Given the description of an element on the screen output the (x, y) to click on. 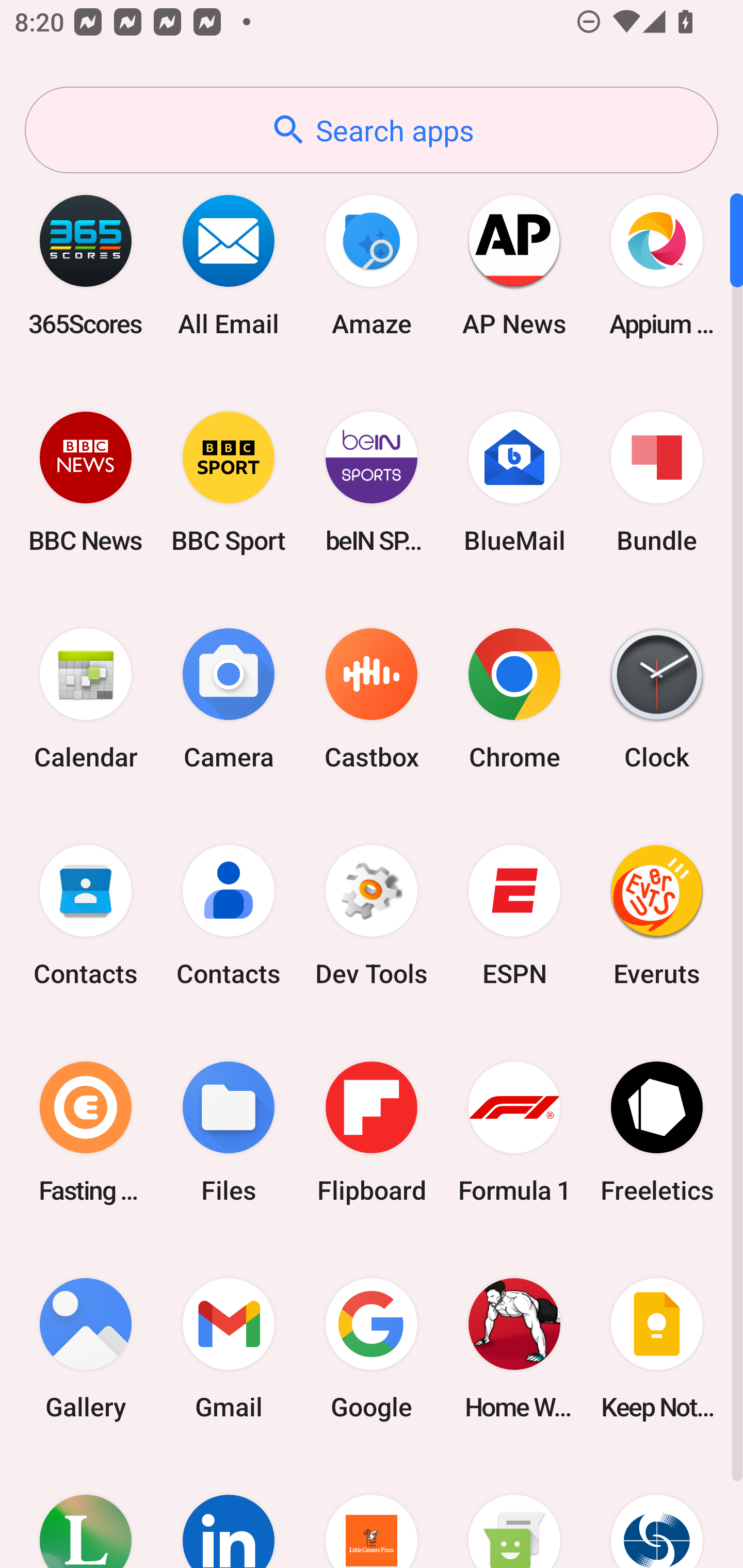
  Search apps (371, 130)
365Scores (85, 264)
All Email (228, 264)
Amaze (371, 264)
AP News (514, 264)
Appium Settings (656, 264)
BBC News (85, 482)
BBC Sport (228, 482)
beIN SPORTS (371, 482)
BlueMail (514, 482)
Bundle (656, 482)
Calendar (85, 699)
Camera (228, 699)
Castbox (371, 699)
Chrome (514, 699)
Clock (656, 699)
Contacts (85, 915)
Contacts (228, 915)
Dev Tools (371, 915)
ESPN (514, 915)
Everuts (656, 915)
Fasting Coach (85, 1131)
Files (228, 1131)
Flipboard (371, 1131)
Formula 1 (514, 1131)
Freeletics (656, 1131)
Gallery (85, 1348)
Gmail (228, 1348)
Google (371, 1348)
Home Workout (514, 1348)
Keep Notes (656, 1348)
